Given the description of an element on the screen output the (x, y) to click on. 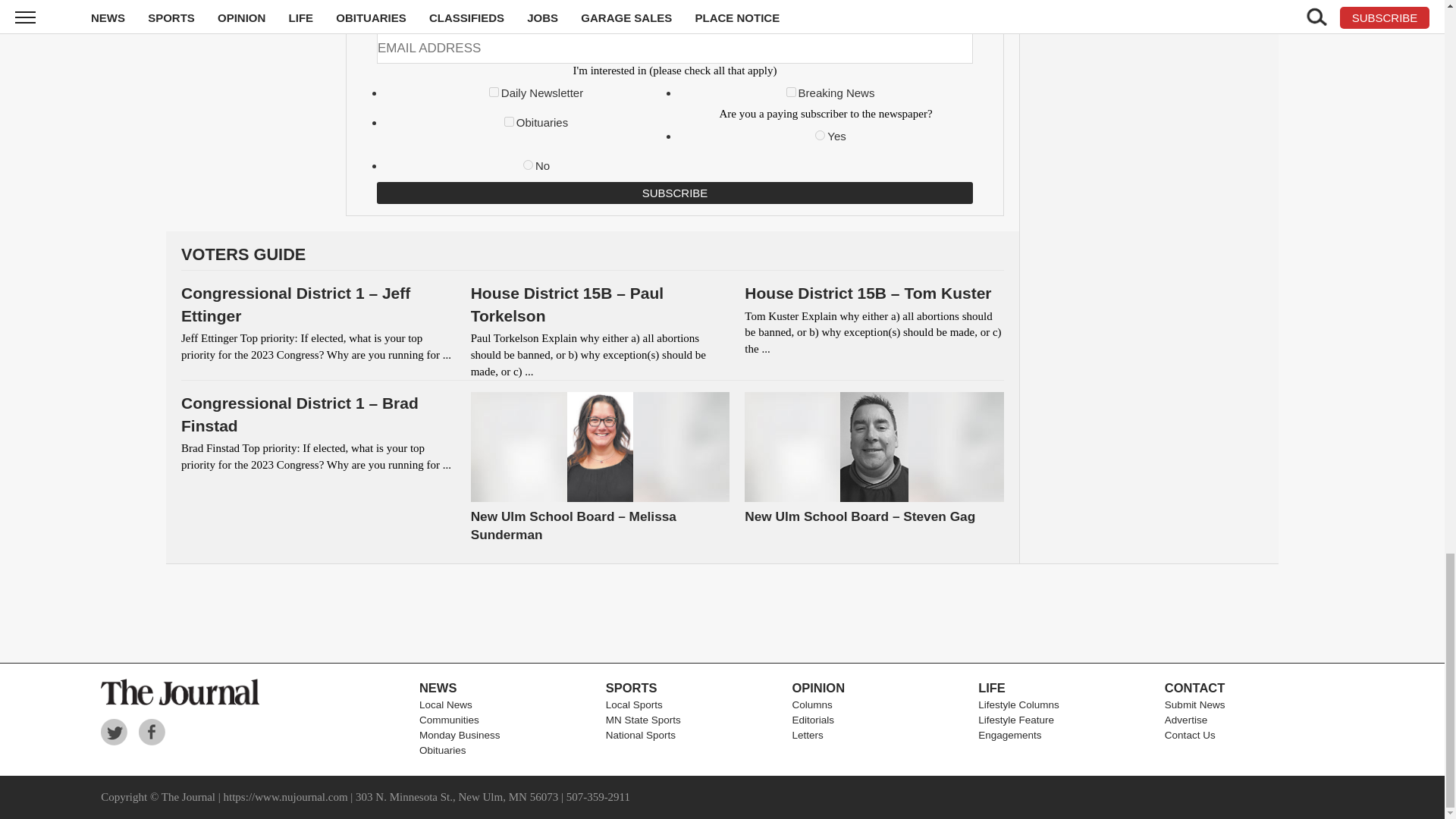
Yes (820, 135)
2 (791, 91)
4 (508, 121)
Subscribe (674, 192)
1 (494, 91)
3rd party ad content (721, 613)
No (527, 164)
